Given the description of an element on the screen output the (x, y) to click on. 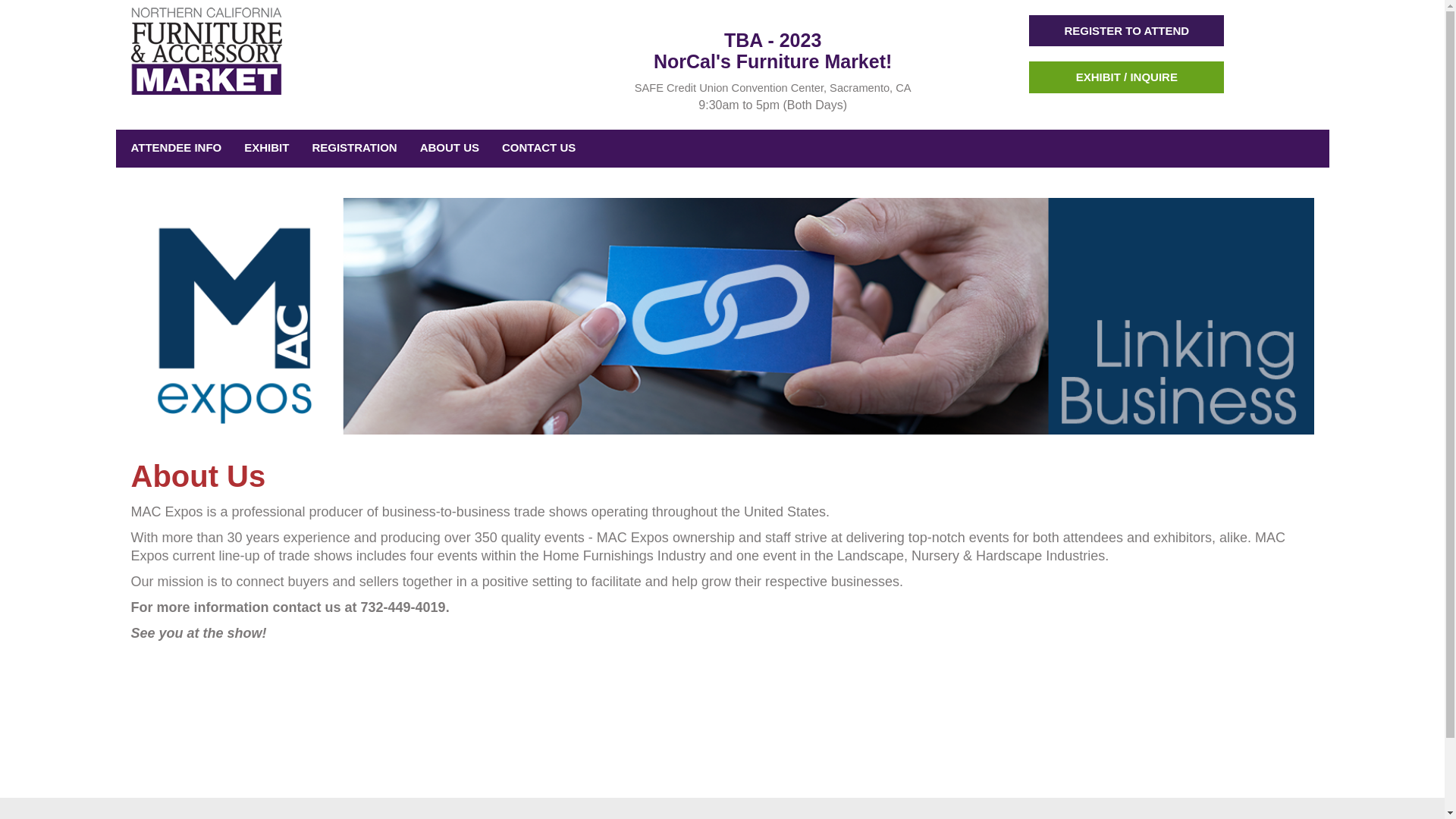
ABOUT US (445, 147)
ATTENDEE INFO (171, 147)
REGISTRATION (350, 147)
CONTACT US (534, 147)
REGISTER TO ATTEND (1126, 30)
EXHIBIT (262, 147)
